Given the description of an element on the screen output the (x, y) to click on. 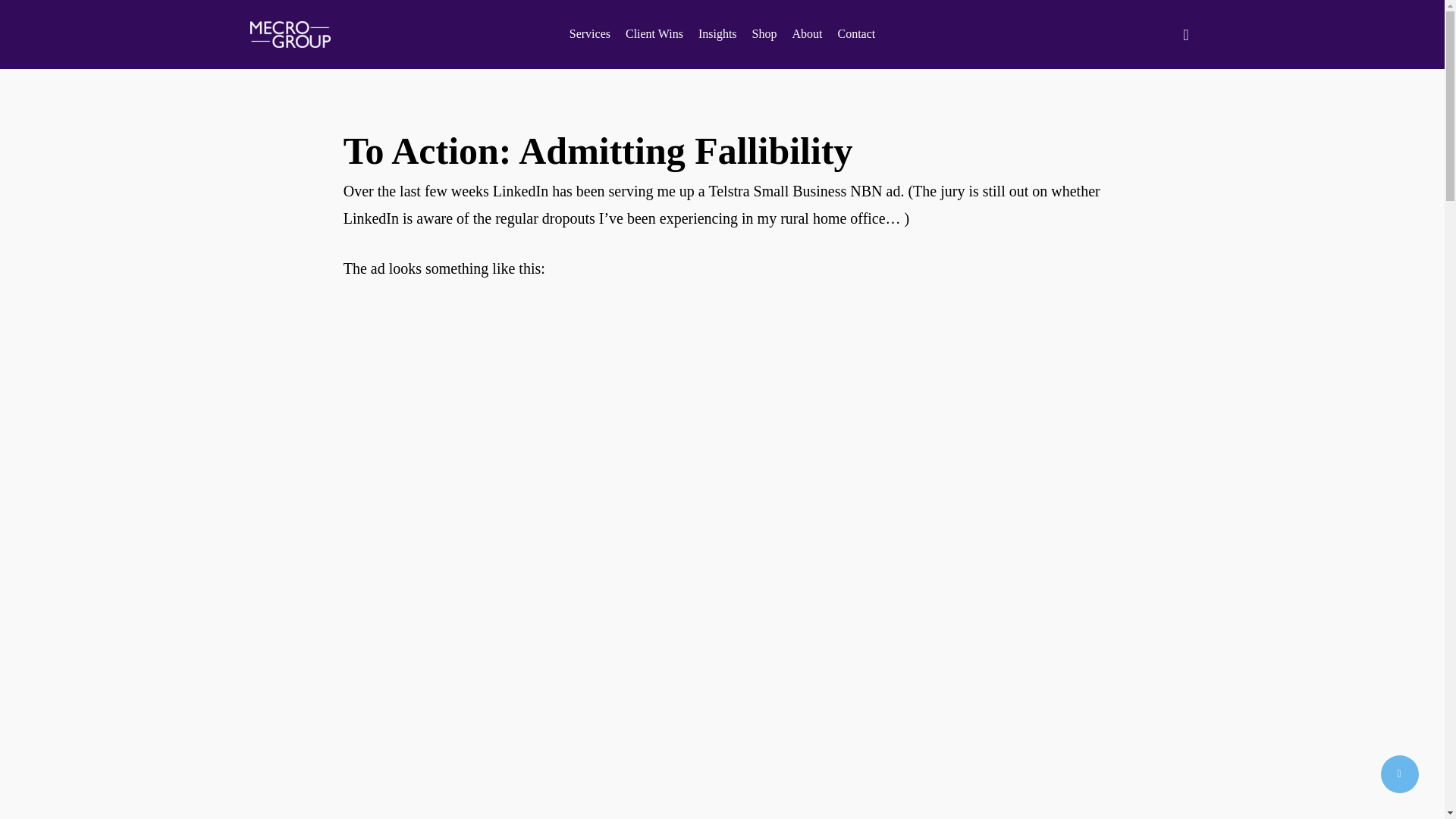
Insights (717, 33)
Services (589, 33)
Shop (764, 33)
Client Wins (654, 33)
Contact (856, 33)
About (807, 33)
